Given the description of an element on the screen output the (x, y) to click on. 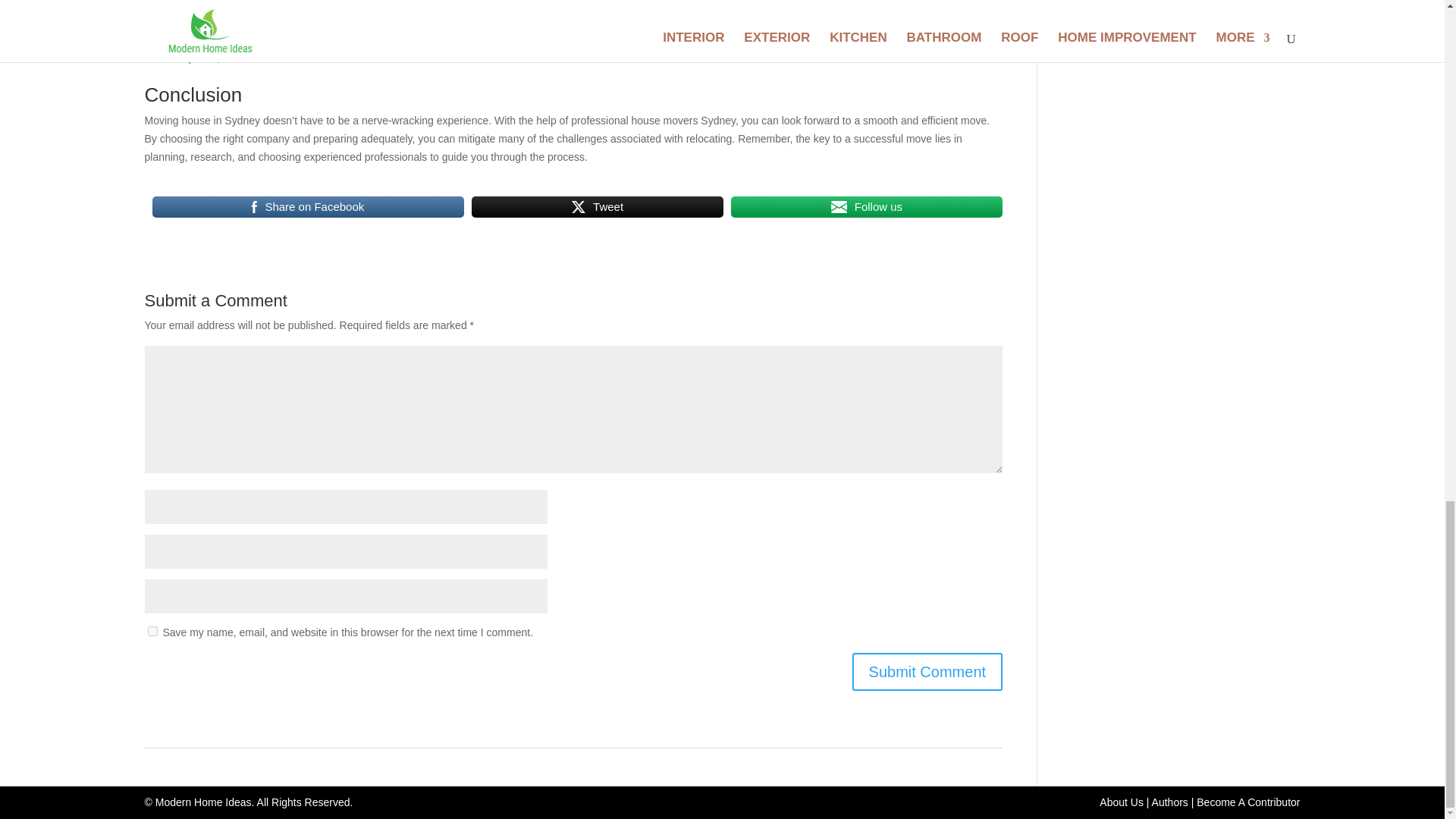
Share on Facebook (307, 206)
Follow us (866, 206)
yes (152, 631)
Submit Comment (927, 671)
Tweet (597, 206)
Submit Comment (927, 671)
